Given the description of an element on the screen output the (x, y) to click on. 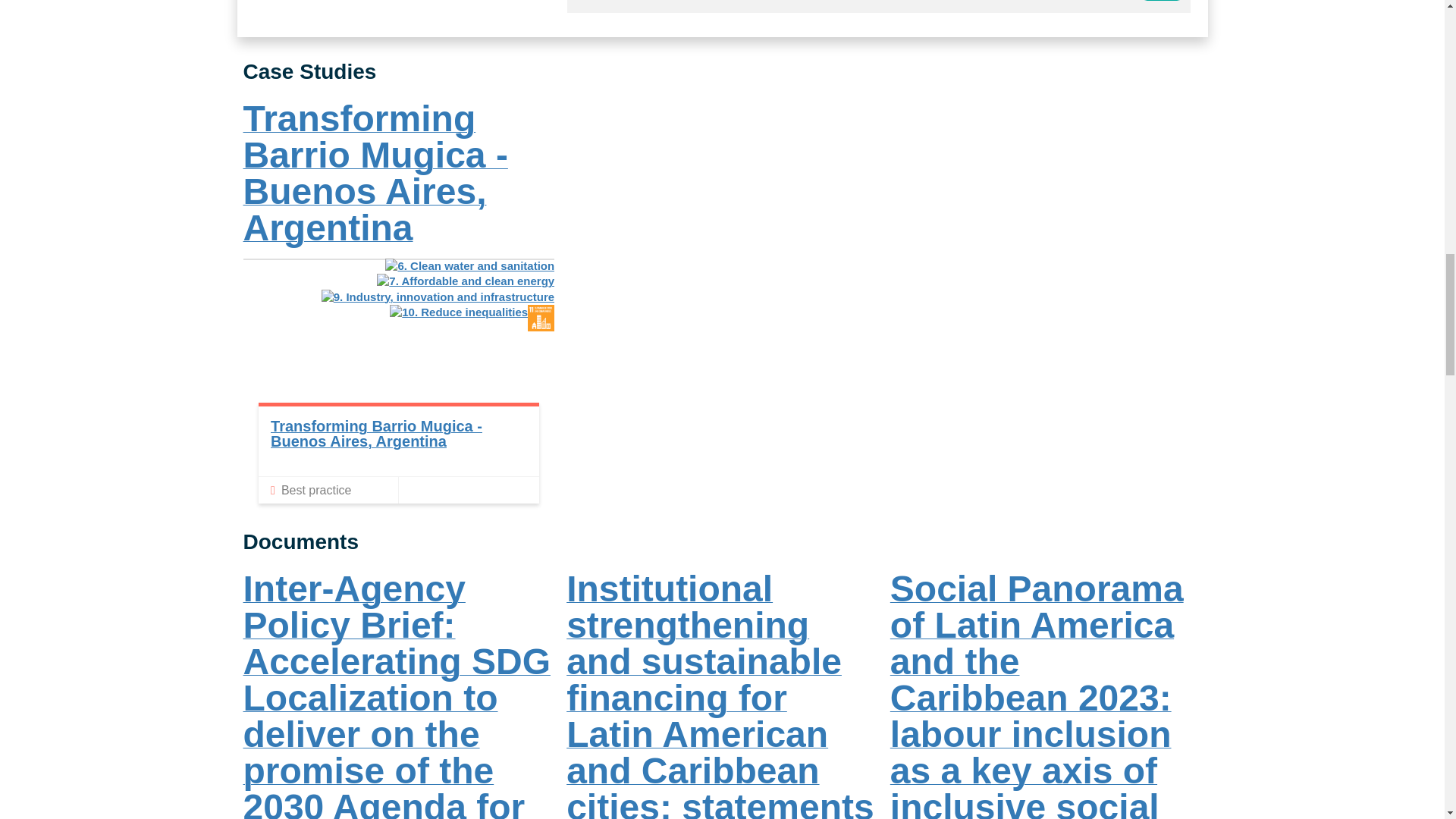
7. Affordable and clean energy (465, 280)
6. Clean water and sanitation (469, 265)
6. Clean water and sanitation (469, 265)
9. Industry, innovation and infrastructure (437, 296)
9. Industry, innovation and infrastructure (437, 296)
7. Affordable and clean energy (465, 281)
11. Sustainable cities and communities (540, 327)
10. Reduce inequalities (458, 312)
10. Reduce inequalities (458, 311)
11. Sustainable cities and communities (540, 317)
